Given the description of an element on the screen output the (x, y) to click on. 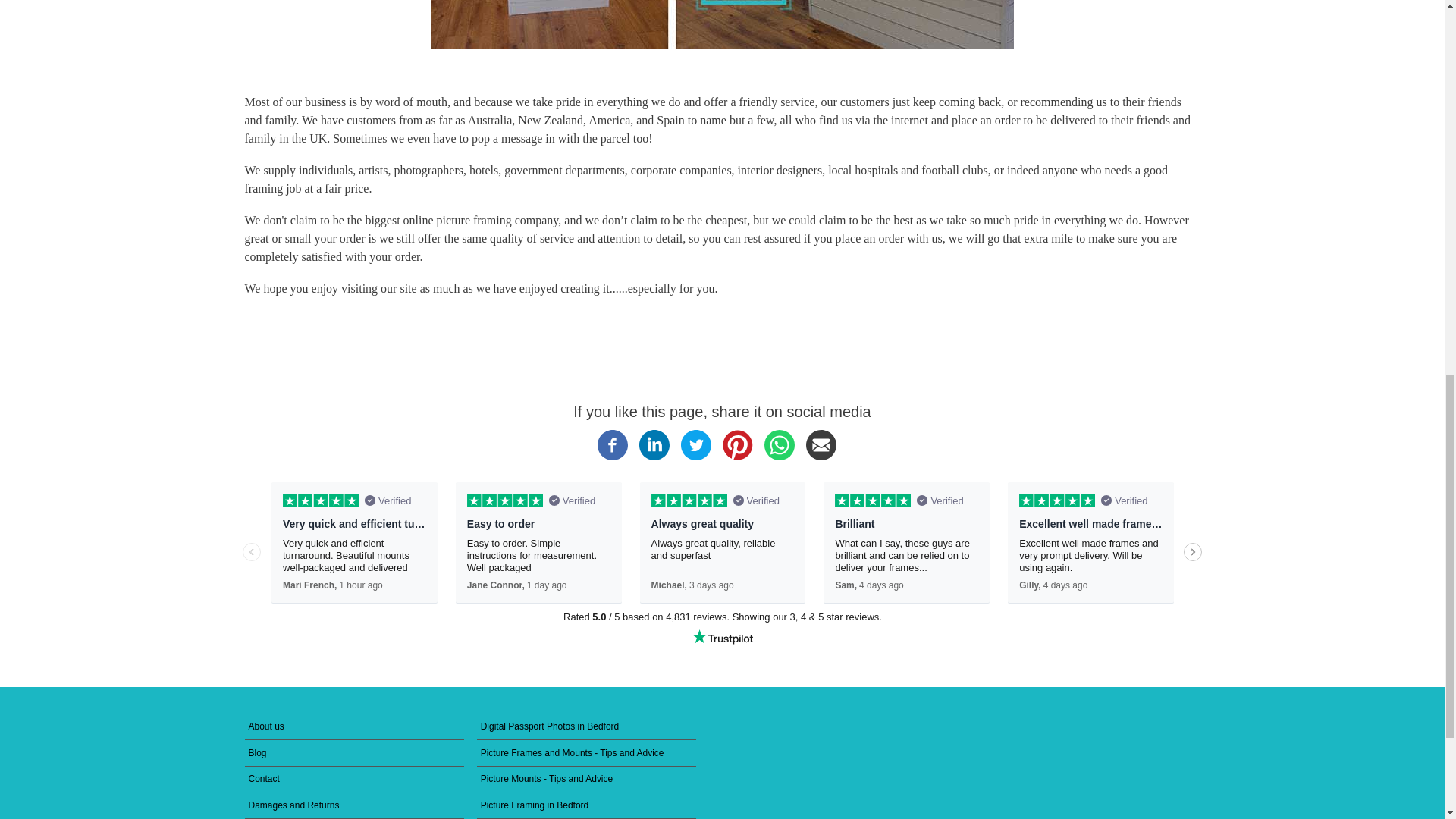
Digital passport photos in Bedford (587, 726)
Linkedin (653, 456)
Damages and Returns (354, 805)
About us (354, 726)
Pinterest (737, 456)
Twitter (696, 456)
Email (820, 456)
Contact (354, 779)
Facebook (611, 456)
Blog (354, 753)
whatsapp (779, 456)
